Given the description of an element on the screen output the (x, y) to click on. 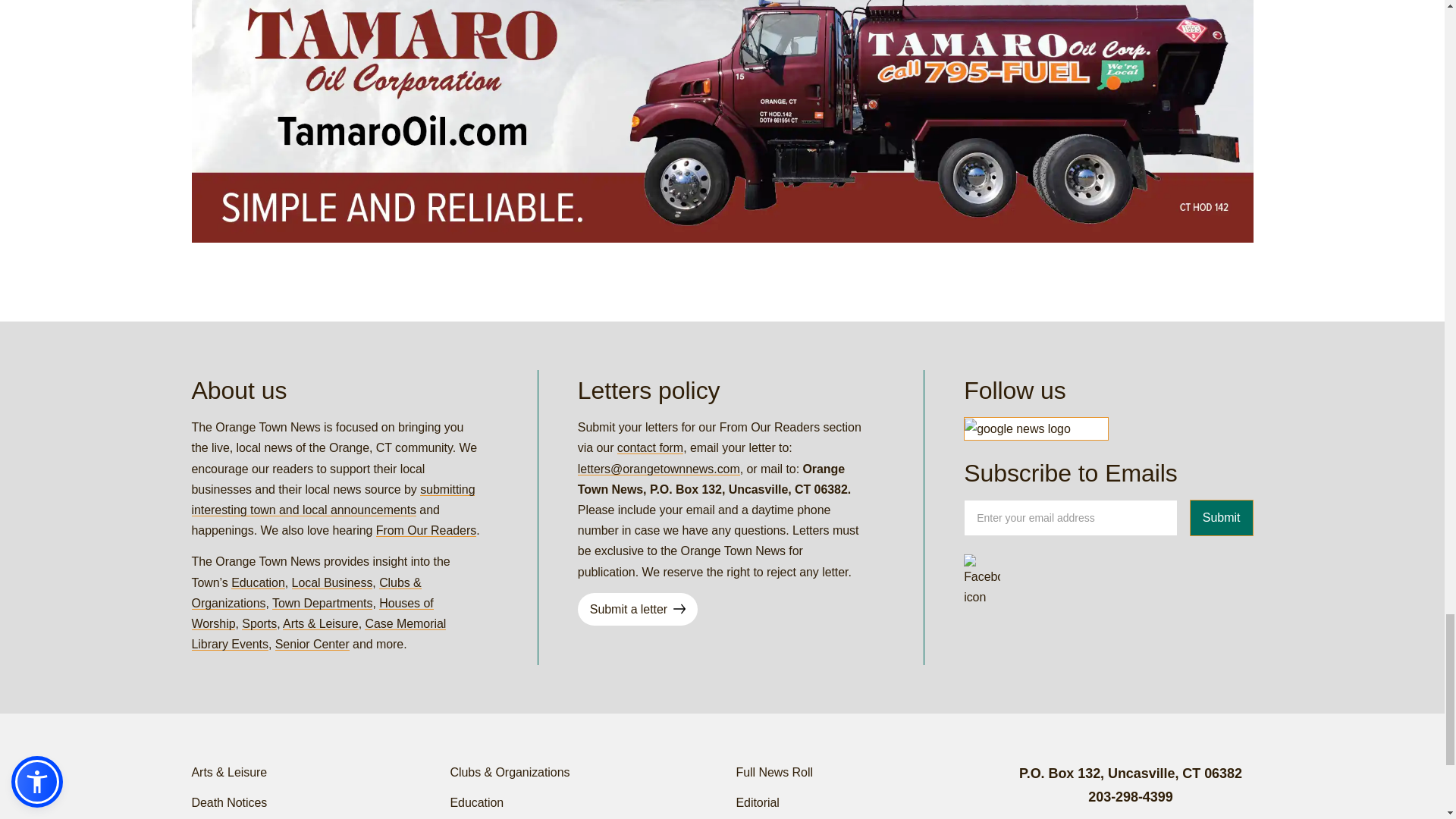
Submit (1221, 517)
Orange Town News Facebook Page (981, 572)
